Given the description of an element on the screen output the (x, y) to click on. 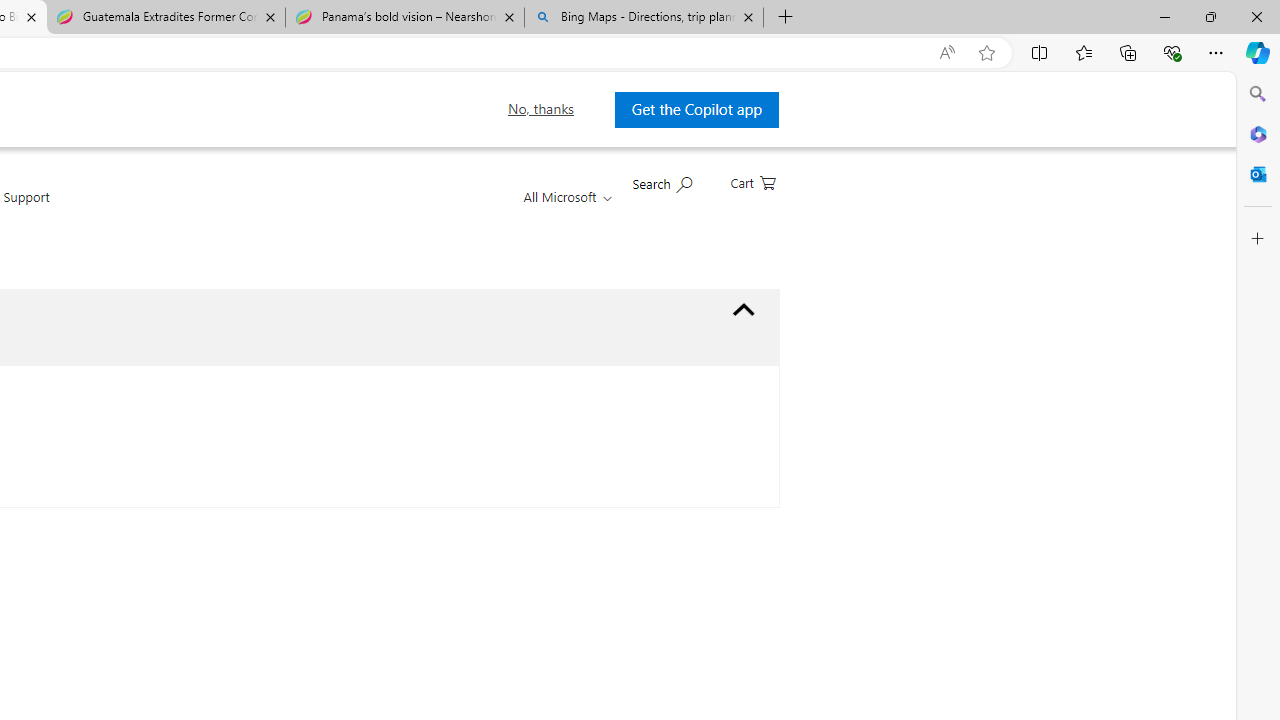
No, thanks (540, 109)
Search Microsoft.com (662, 182)
Get the Copilot app  (696, 109)
